Given the description of an element on the screen output the (x, y) to click on. 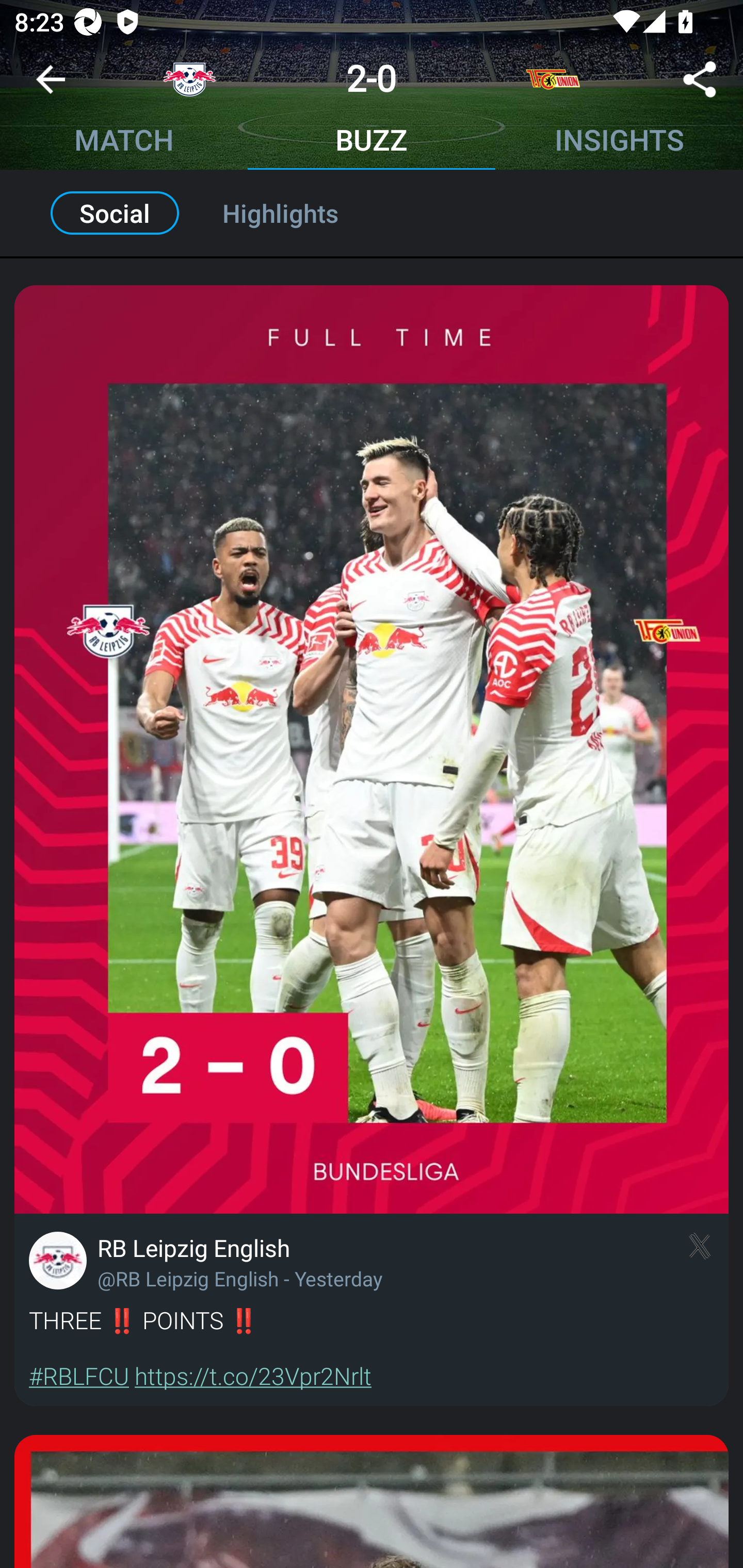
Navigate up (50, 86)
Share (699, 82)
MATCH (123, 142)
BUZZ (371, 142)
INSIGHTS (619, 142)
Highlights (301, 212)
